Given the description of an element on the screen output the (x, y) to click on. 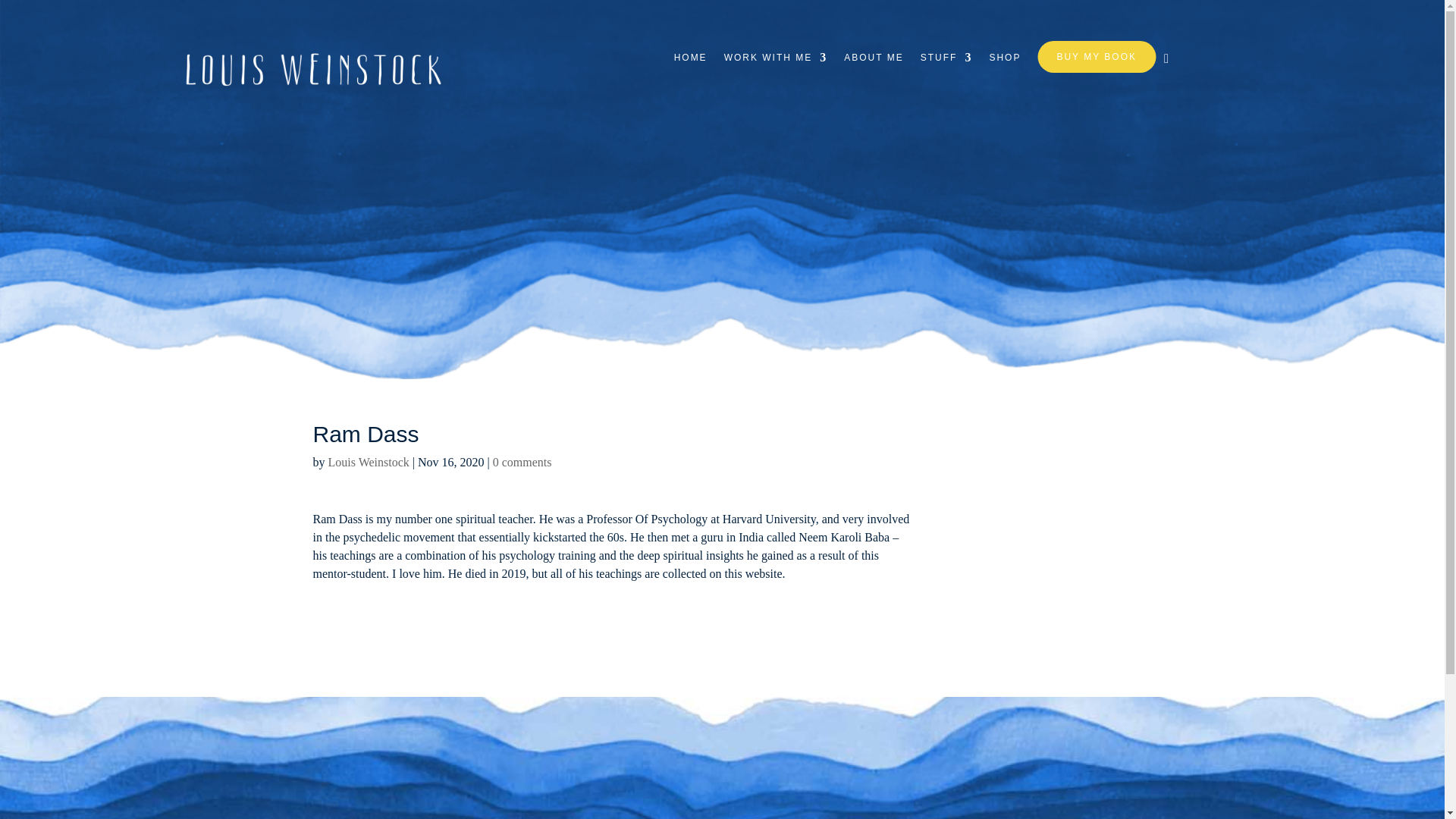
BUY MY BOOK (1096, 56)
WORK WITH ME (775, 68)
Louis-Logo-white (316, 66)
Posts by Louis Weinstock (368, 461)
SHOP (1004, 68)
HOME (690, 68)
Louis Weinstock (368, 461)
ABOUT ME (873, 68)
0 comments (522, 461)
STUFF (946, 68)
